Given the description of an element on the screen output the (x, y) to click on. 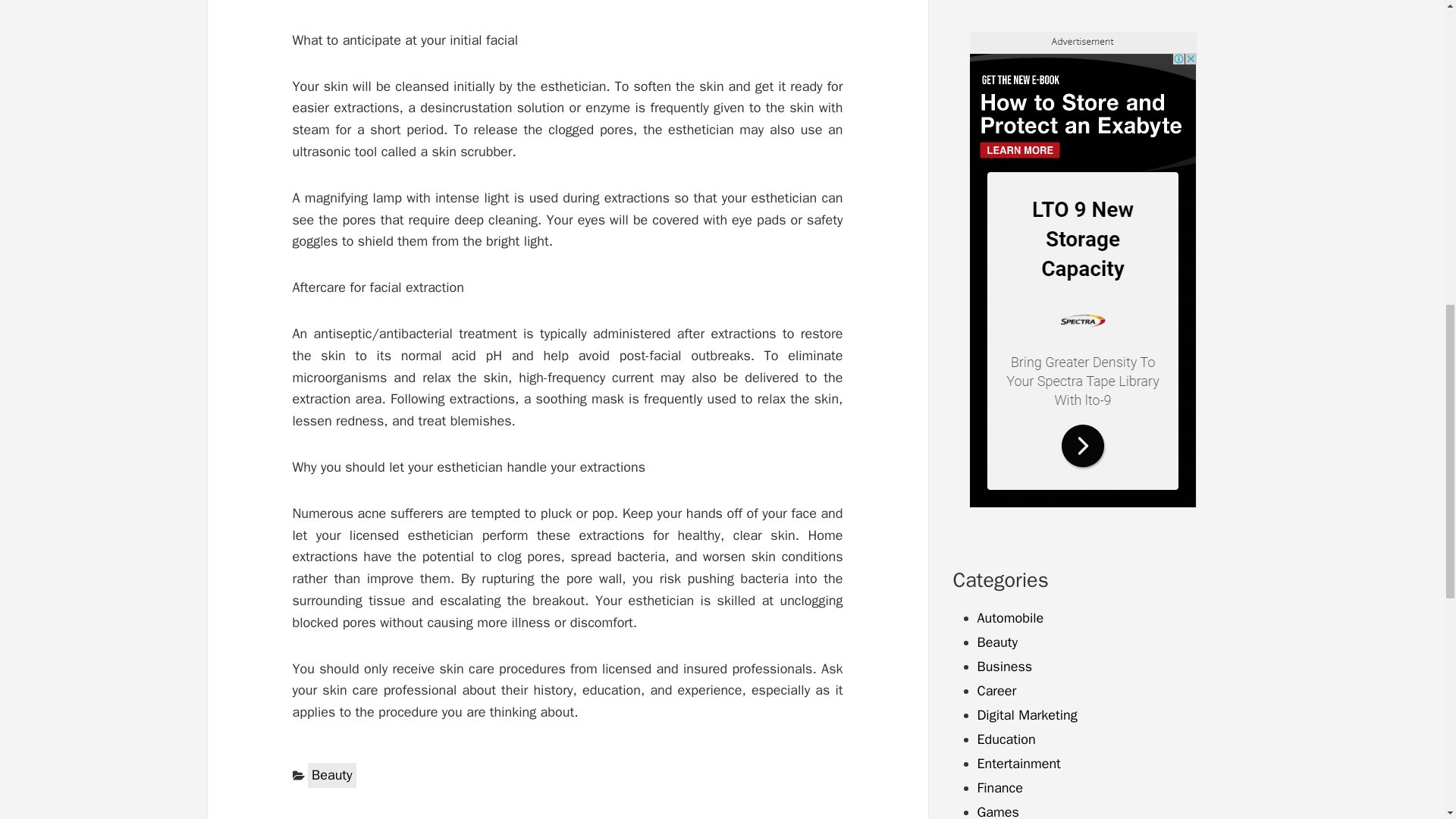
Beauty (331, 775)
Finance (999, 787)
Digital Marketing (1026, 714)
Automobile (1009, 617)
Entertainment (1017, 763)
Education (1005, 739)
Beauty (996, 641)
Business (1004, 666)
Career (996, 690)
Games (996, 811)
